Given the description of an element on the screen output the (x, y) to click on. 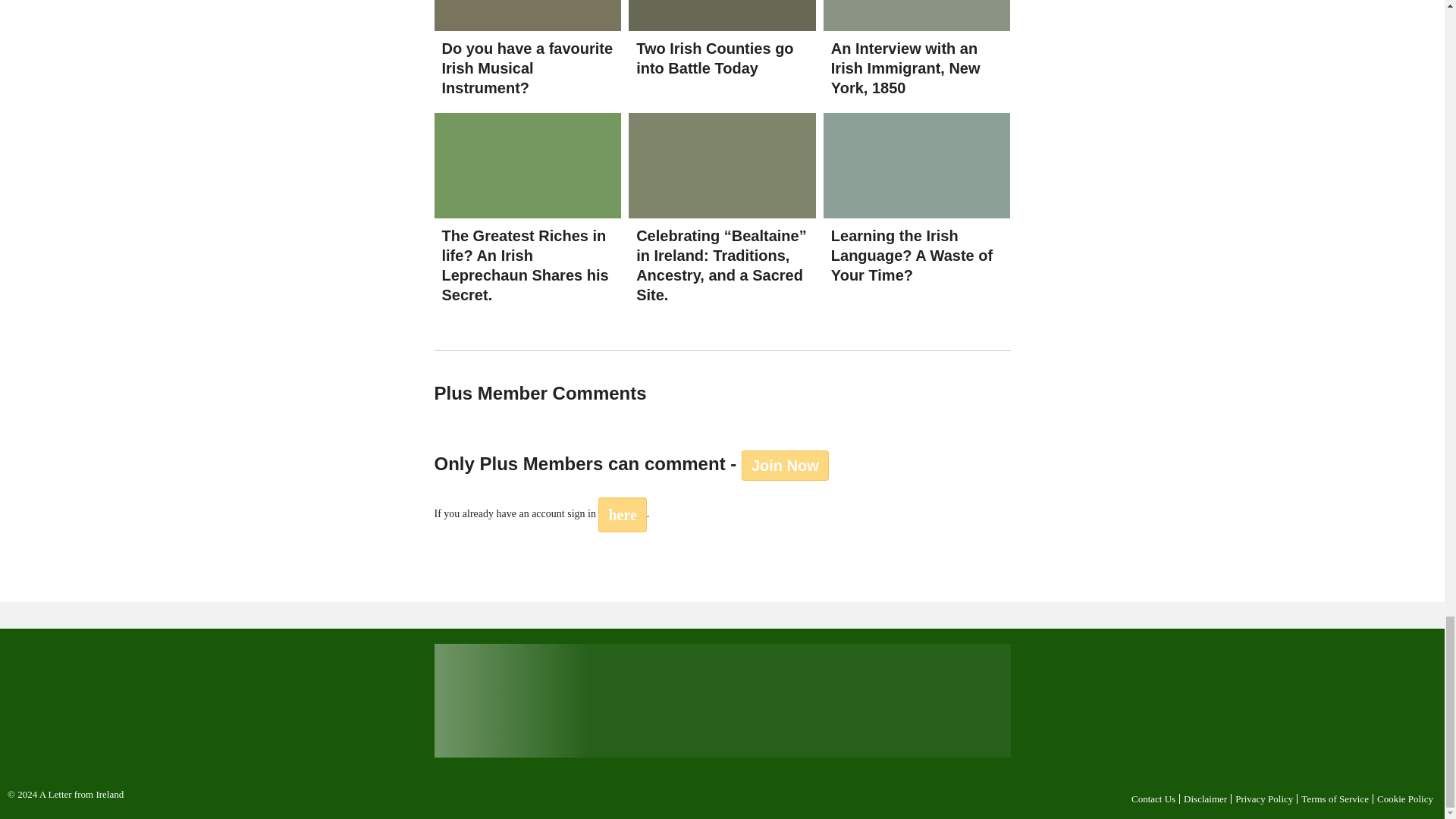
Two Irish Counties go into Battle Today (714, 58)
Do you have a favourite Irish Musical Instrument? (526, 68)
Do you have a favourite Irish Musical Instrument? (526, 68)
An Interview with an Irish Immigrant, New York, 1850 (905, 68)
Two Irish Counties go into Battle Today (714, 58)
